Given the description of an element on the screen output the (x, y) to click on. 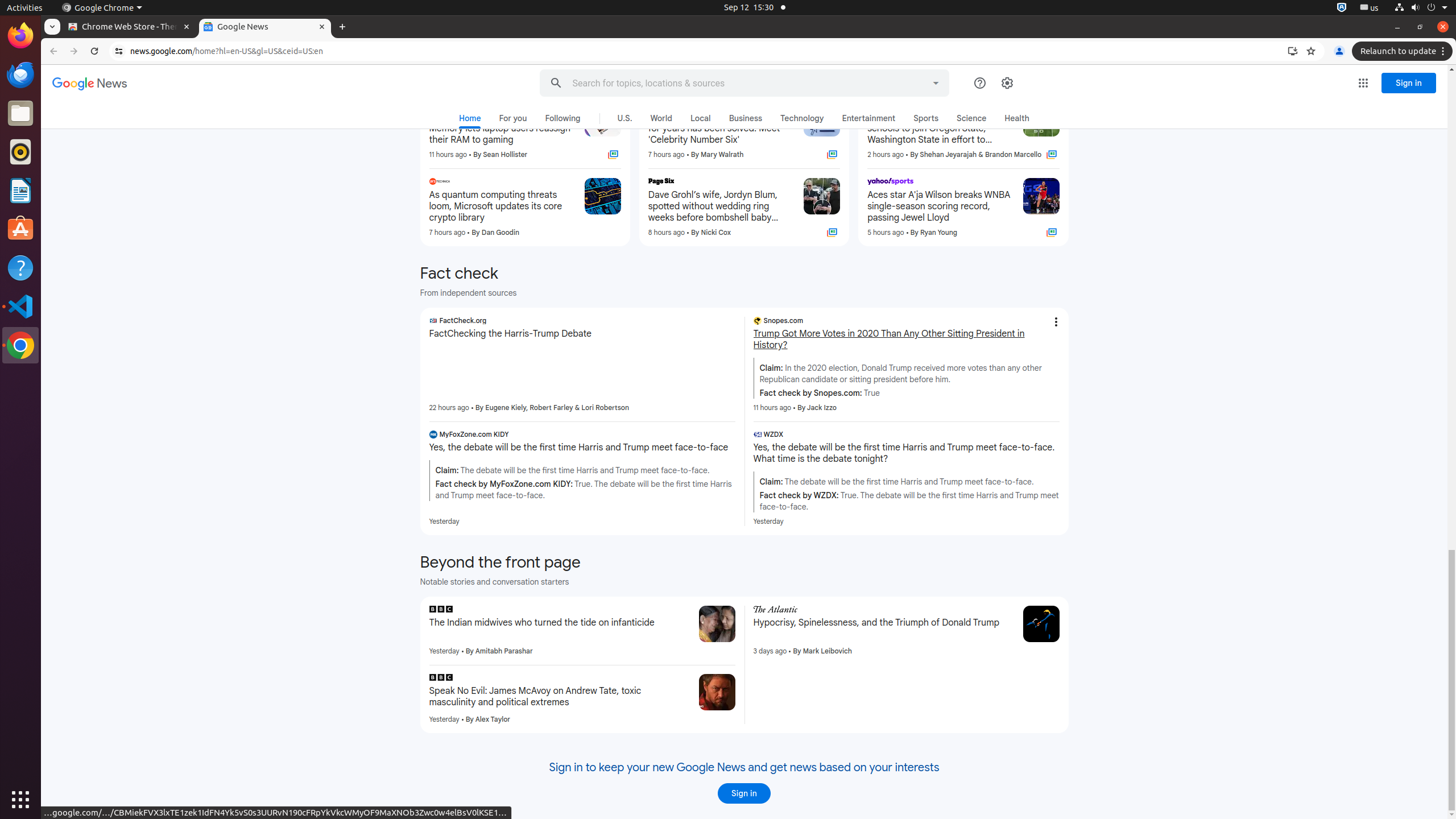
The Indian midwives who turned the tide on infanticide Element type: link (558, 622)
Sports Element type: menu-item (926, 118)
Reload Element type: push-button (94, 50)
View site information Element type: push-button (118, 51)
More - Hypocrisy, Spinelessness, and the Triumph of Donald Trump Element type: push-button (1010, 610)
